Given the description of an element on the screen output the (x, y) to click on. 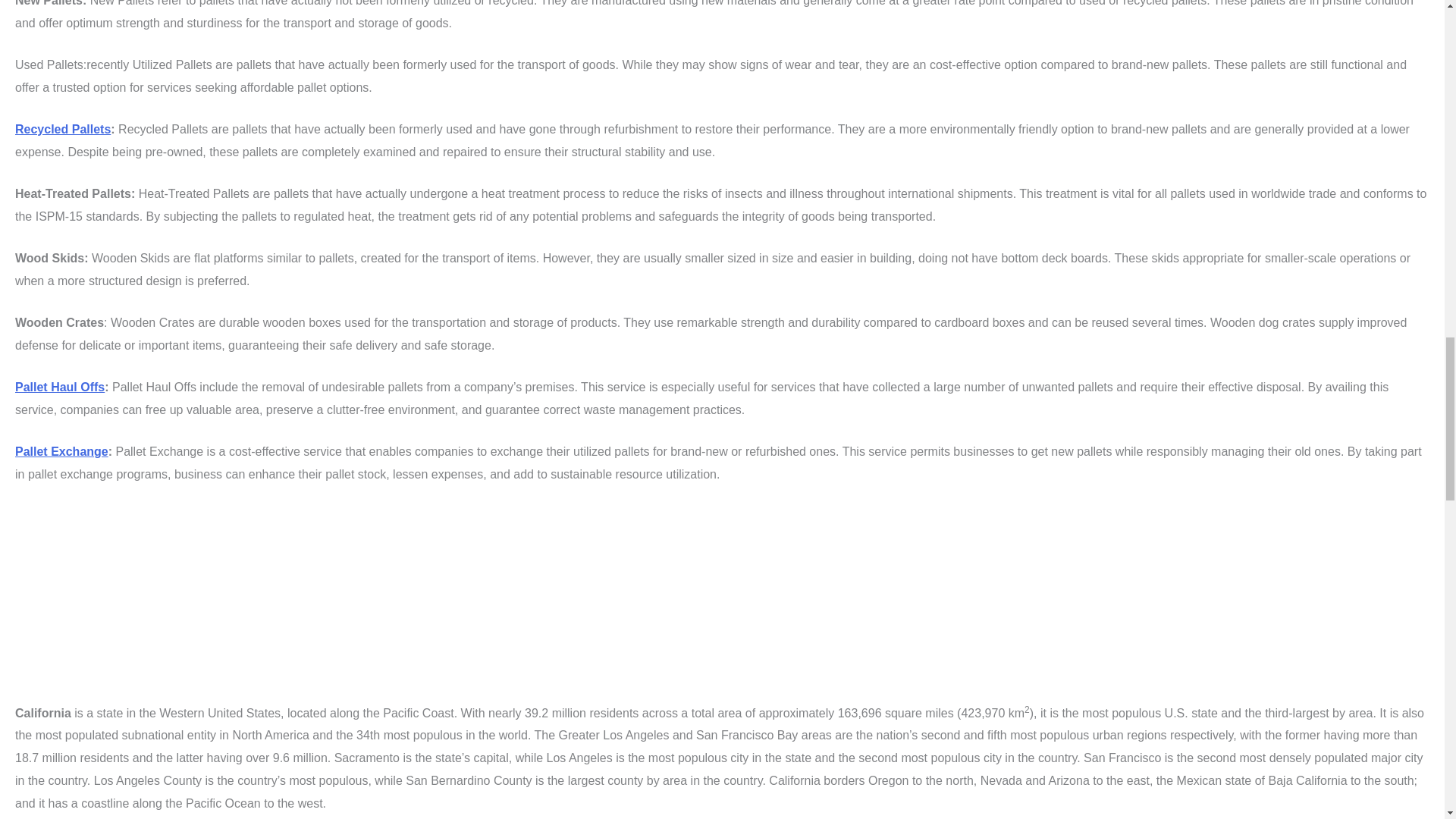
Pallet Haul Offs (59, 386)
Pallet Exchange (60, 451)
Recycled Pallets (62, 128)
